Given the description of an element on the screen output the (x, y) to click on. 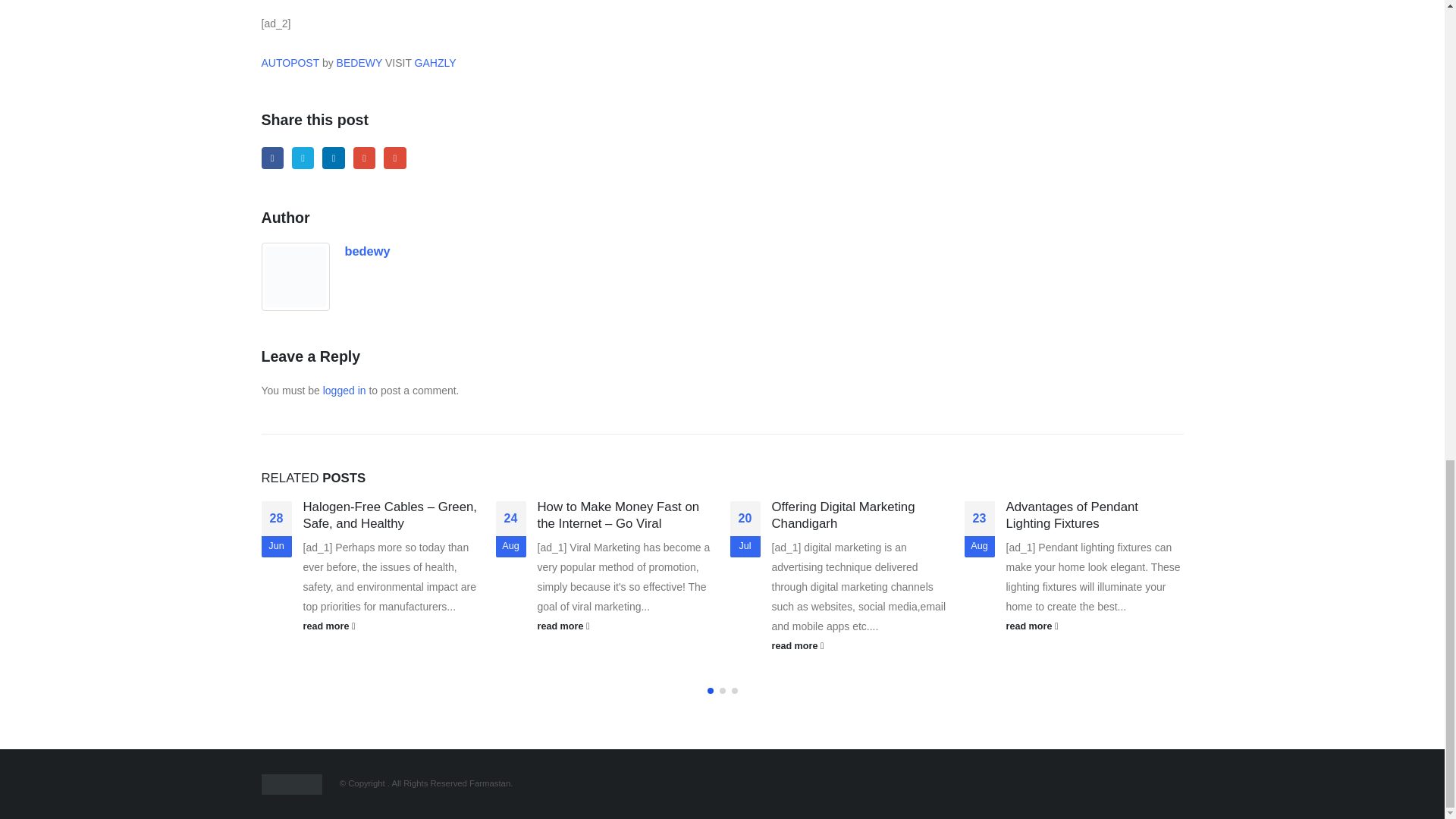
AUTOPOST (289, 62)
BEDEWY (358, 62)
Posts by bedewy (366, 250)
